Given the description of an element on the screen output the (x, y) to click on. 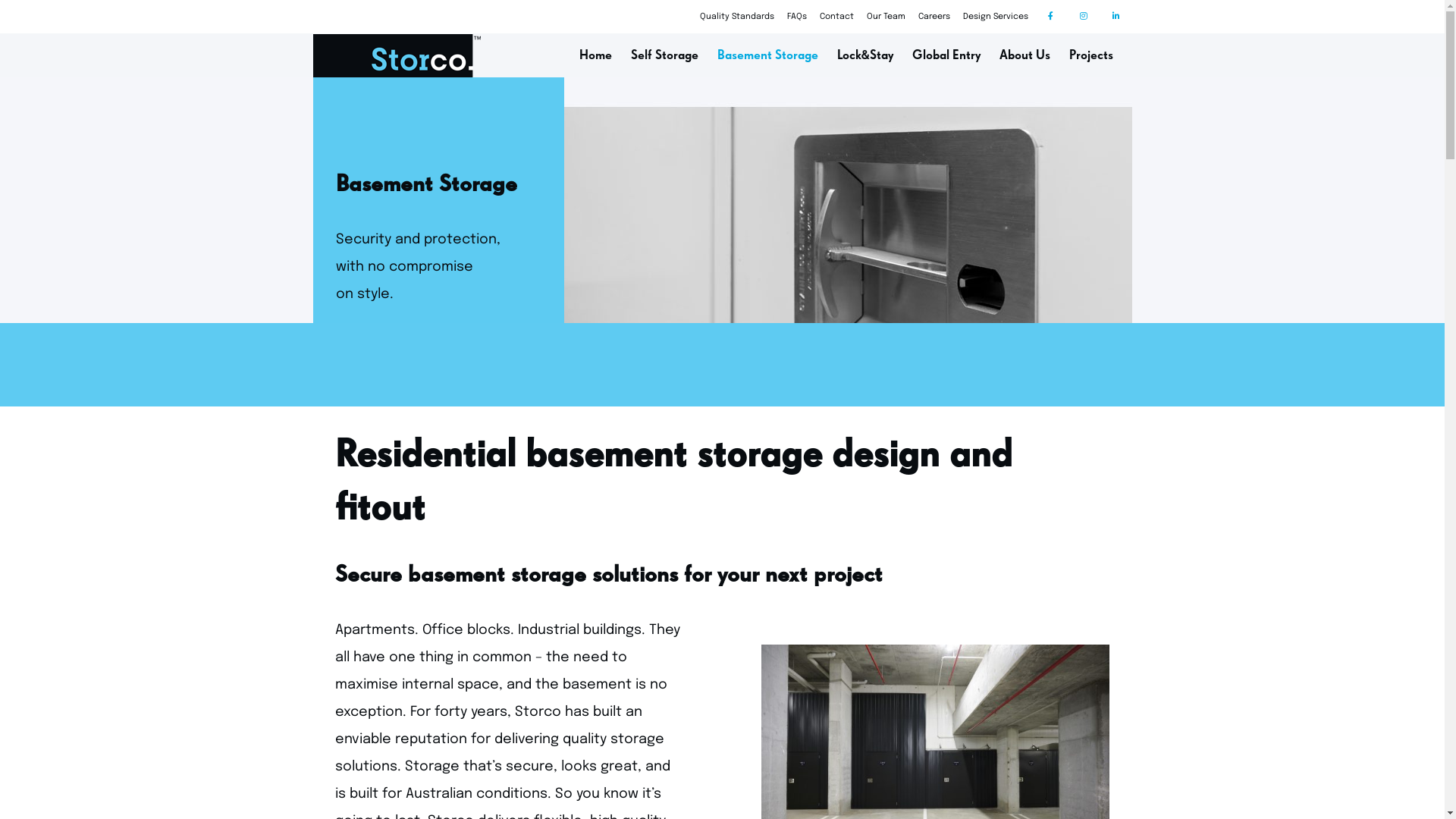
Our Team Element type: text (884, 16)
About Us Element type: text (1024, 55)
FAQs Element type: text (796, 16)
Careers Element type: text (933, 16)
Projects Element type: text (1091, 55)
Design Services Element type: text (995, 16)
Basement Storage Element type: text (767, 55)
Contact Element type: text (835, 16)
Global Entry Element type: text (945, 55)
Self Storage Element type: text (664, 55)
Lock&Stay Element type: text (865, 55)
Quality Standards Element type: text (736, 16)
Home Element type: text (595, 55)
